Given the description of an element on the screen output the (x, y) to click on. 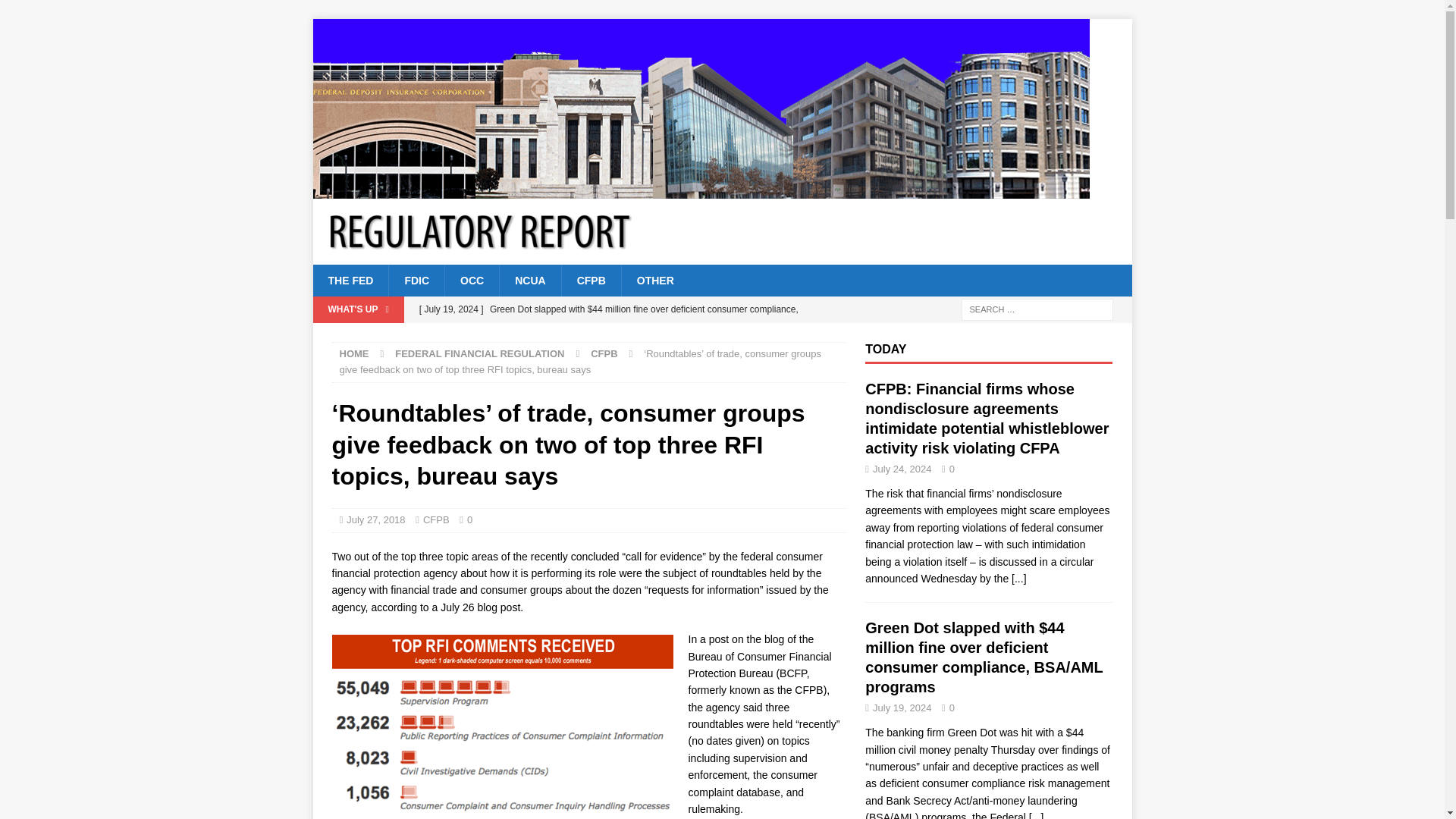
THE FED (350, 280)
HOME (354, 353)
0 (469, 519)
CFPB (436, 519)
CFPB (590, 280)
0 (952, 469)
July 27, 2018 (375, 519)
FEDERAL FINANCIAL REGULATION (479, 353)
CFPB (604, 353)
OTHER (654, 280)
FDIC (416, 280)
OCC (471, 280)
NCUA (529, 280)
Regulatory Report (701, 190)
